Given the description of an element on the screen output the (x, y) to click on. 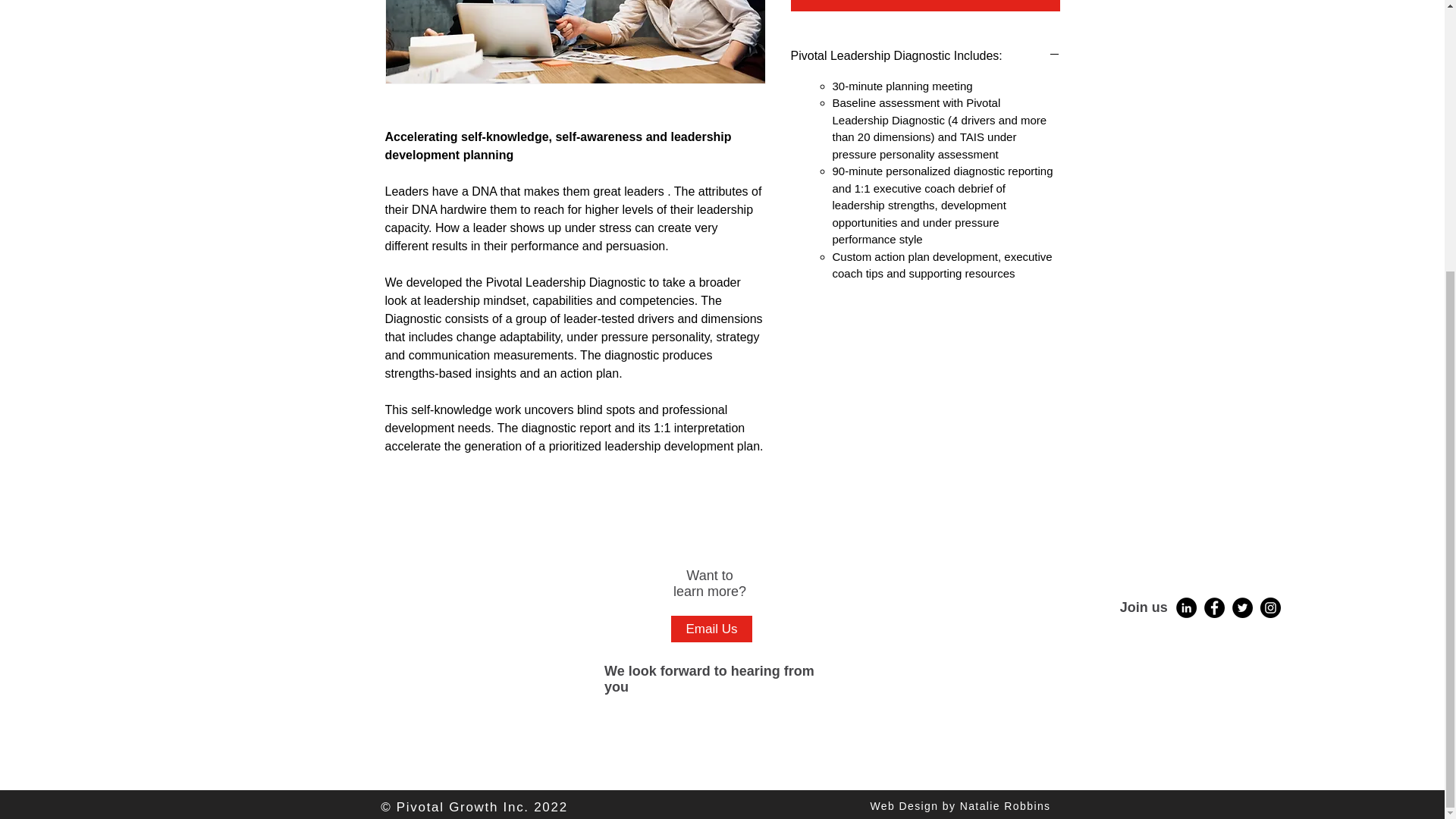
Email Us (711, 628)
Add to Cart (924, 5)
Pivotal Leadership Diagnostic Includes: (924, 55)
